Given the description of an element on the screen output the (x, y) to click on. 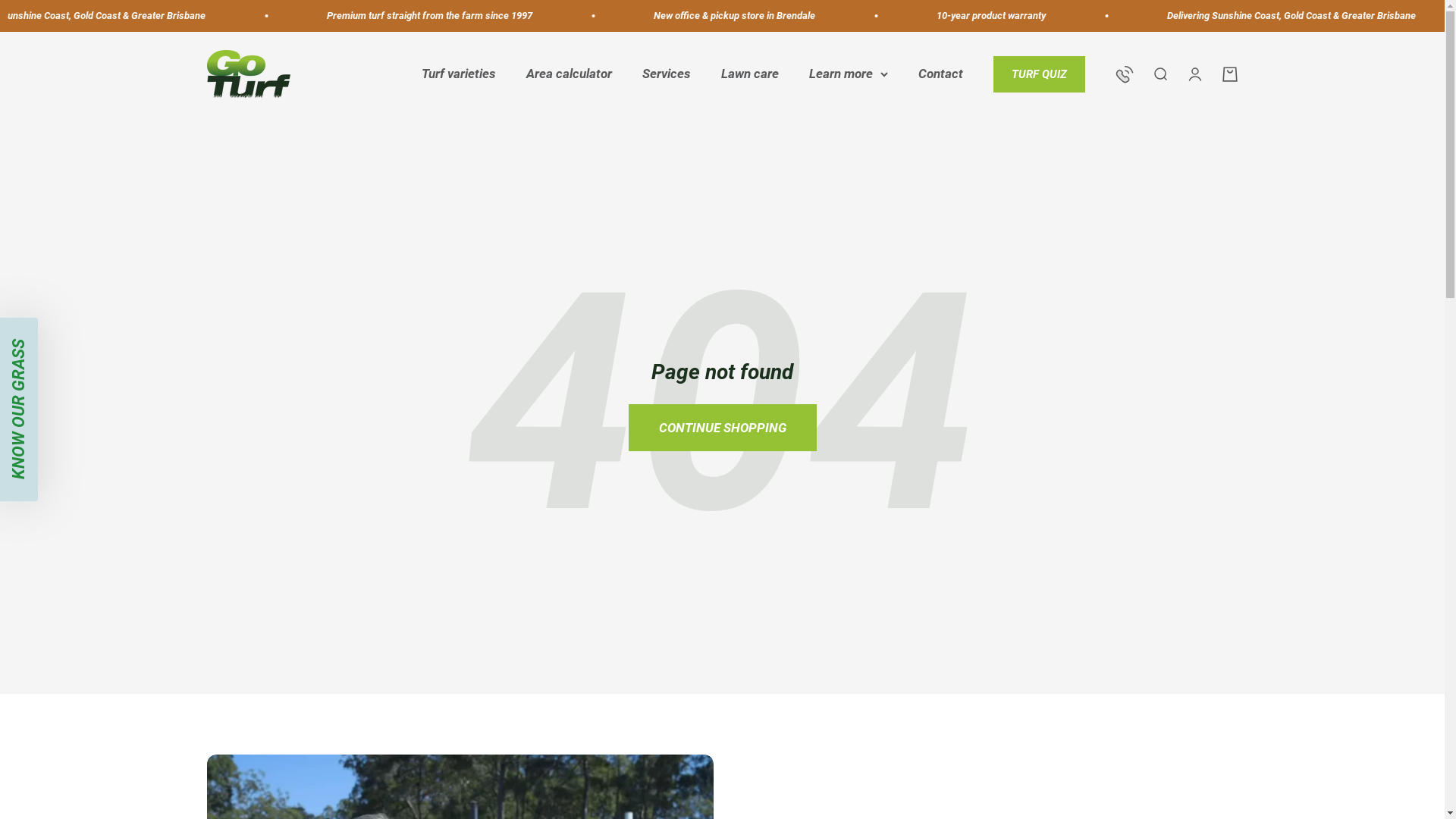
Open search Element type: text (1159, 73)
TURF QUIZ Element type: text (1039, 74)
GoTurf Element type: text (247, 73)
CONTINUE SHOPPING Element type: text (721, 427)
Services Element type: text (665, 73)
Open cart
0 Element type: text (1228, 73)
Contact Element type: text (939, 73)
KNOW OUR GRASS Element type: text (91, 336)
Open account page Element type: text (1194, 73)
Lawn care Element type: text (749, 73)
Turf varieties Element type: text (458, 73)
Area calculator Element type: text (568, 73)
